Given the description of an element on the screen output the (x, y) to click on. 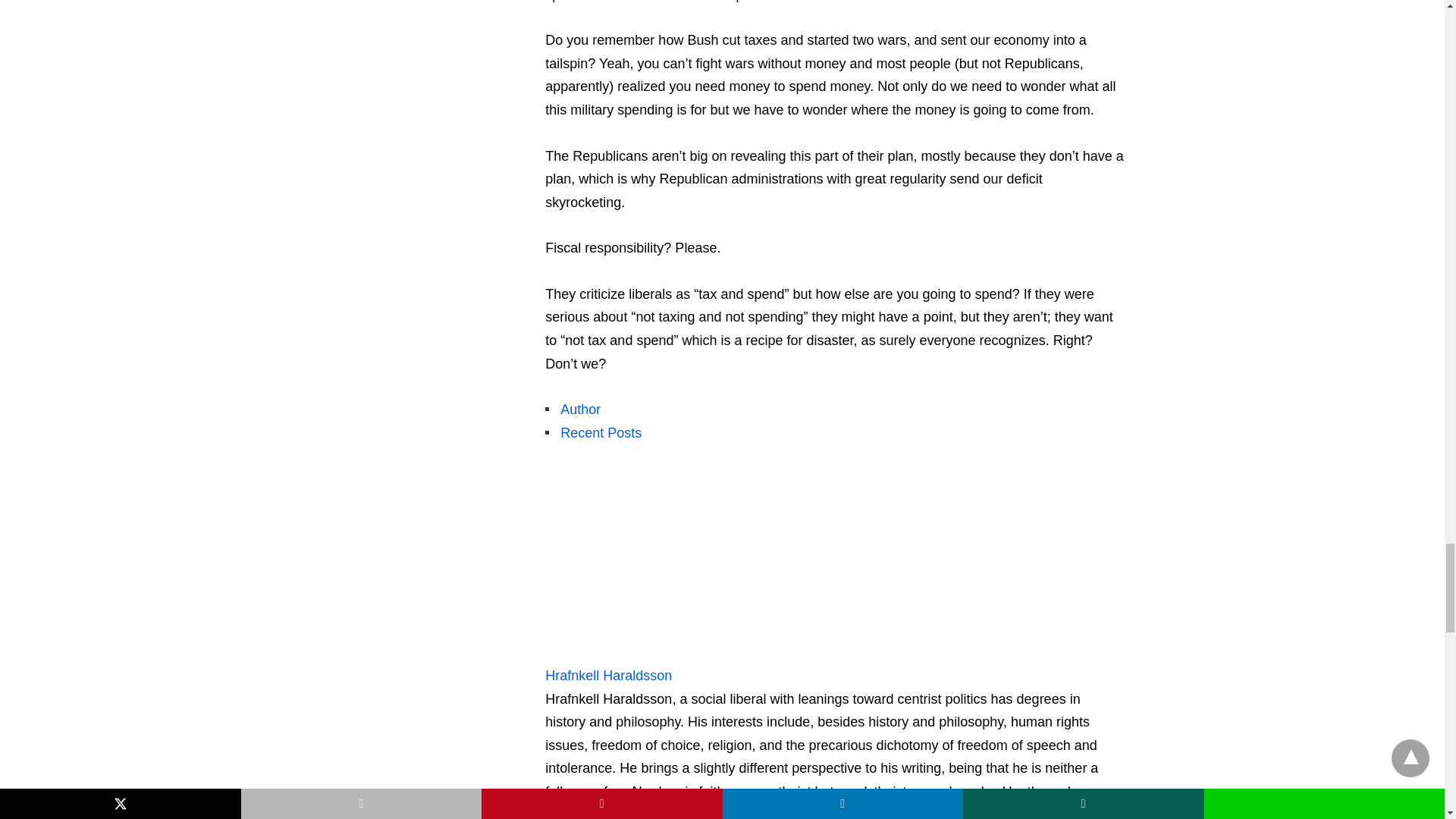
Hrafnkell Haraldsson (607, 675)
Hrafnkell Haraldsson (639, 652)
Author (579, 409)
Recent Posts (601, 432)
